Given the description of an element on the screen output the (x, y) to click on. 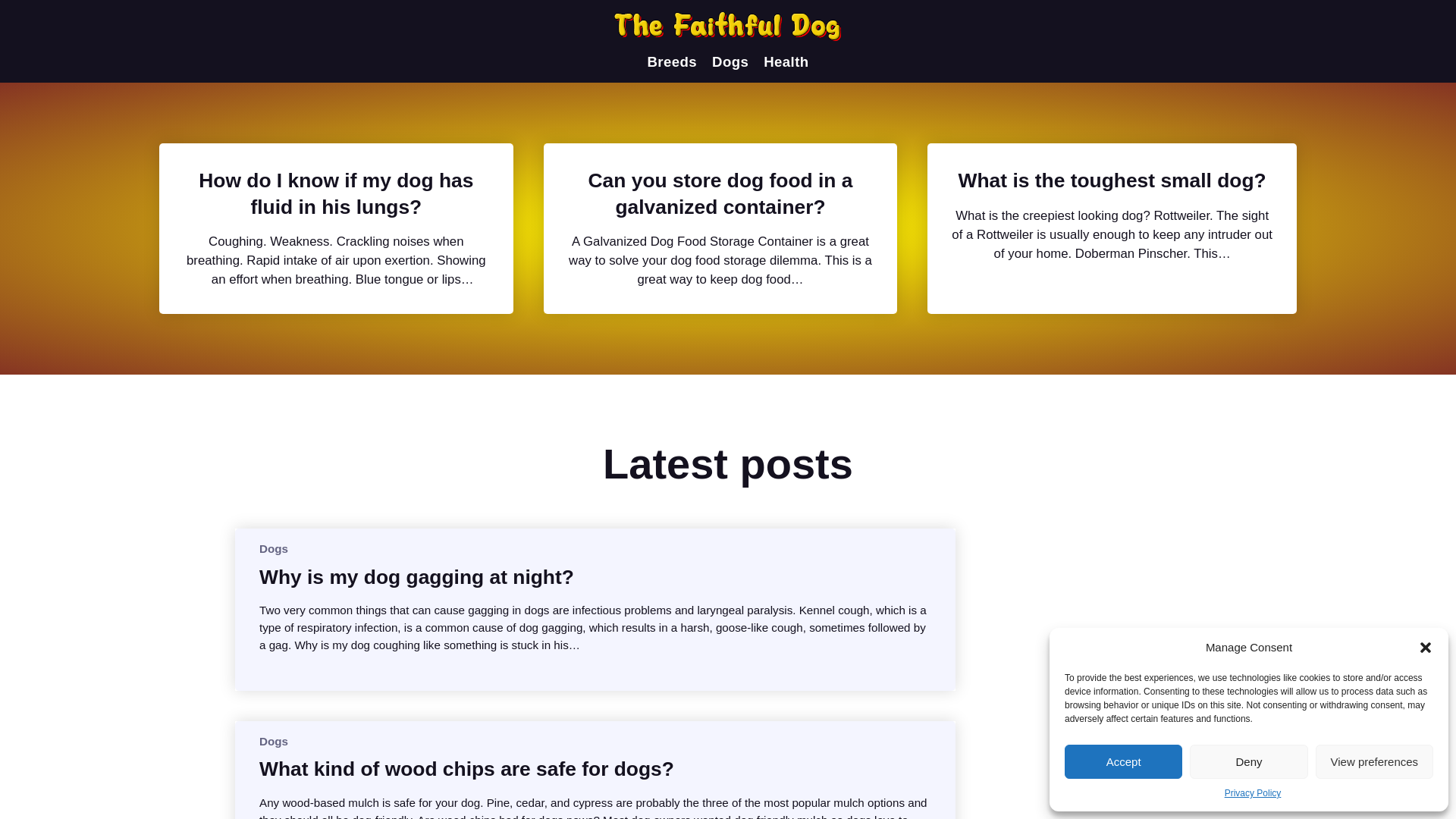
Breeds (671, 62)
How do I know if my dog has fluid in his lungs? (336, 193)
Deny (1248, 761)
Privacy Policy (1252, 793)
What kind of wood chips are safe for dogs? (466, 768)
Can you store dog food in a galvanized container? (720, 193)
View preferences (1374, 761)
Dogs (729, 62)
Why is my dog gagging at night? (416, 576)
Dogs (273, 548)
What is the toughest small dog? (1112, 180)
Health (785, 62)
Dogs (273, 740)
Accept (1123, 761)
